Given the description of an element on the screen output the (x, y) to click on. 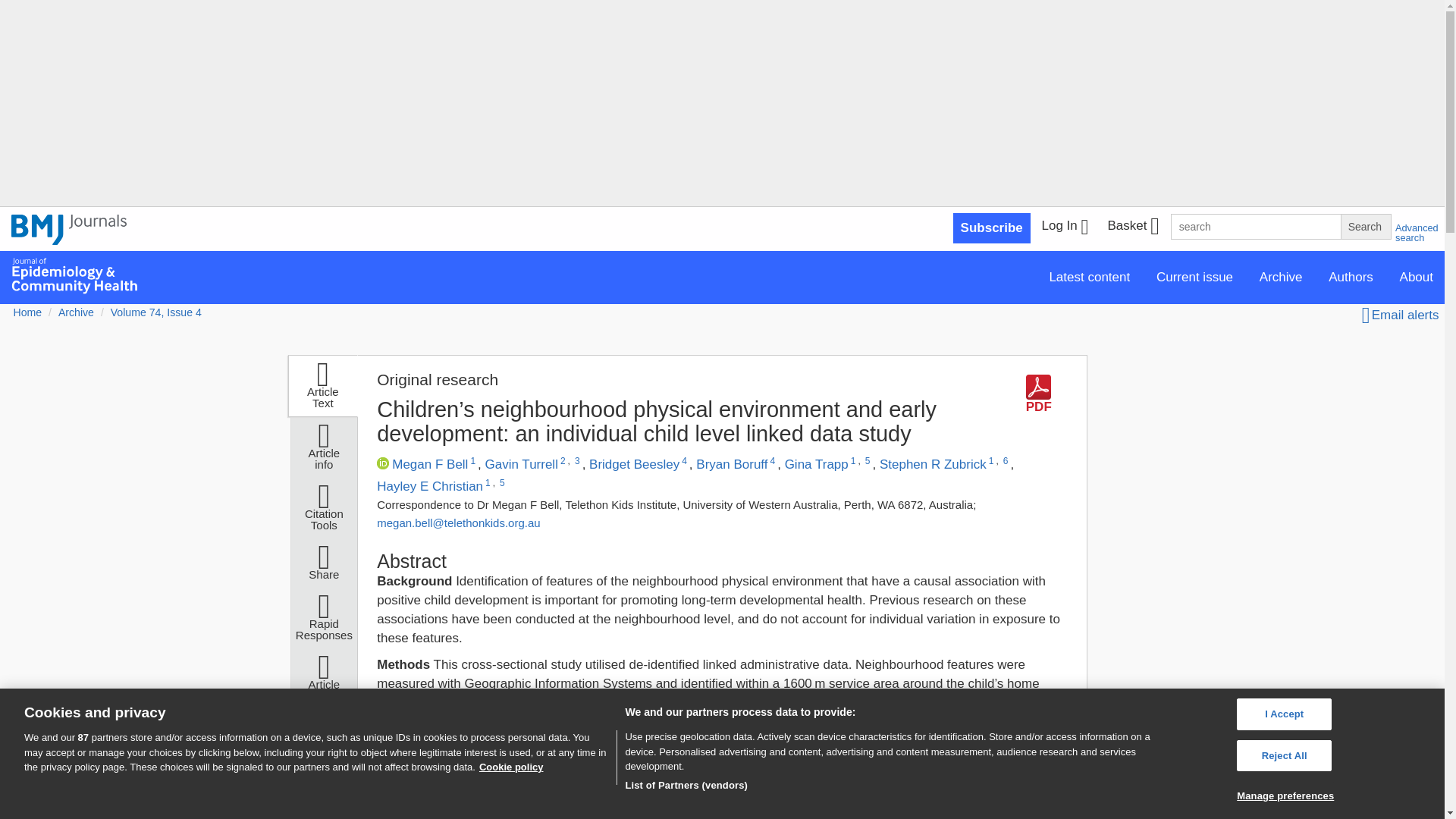
Authors (1350, 276)
Archive (1280, 276)
Basket (1132, 228)
Search (1364, 226)
Log In (1064, 228)
Subscribe (991, 227)
Search (1364, 226)
BMJ Journals (68, 229)
BMJ Journals (68, 237)
Current issue (1194, 276)
Advanced search (1416, 232)
Latest content (1088, 276)
